Given the description of an element on the screen output the (x, y) to click on. 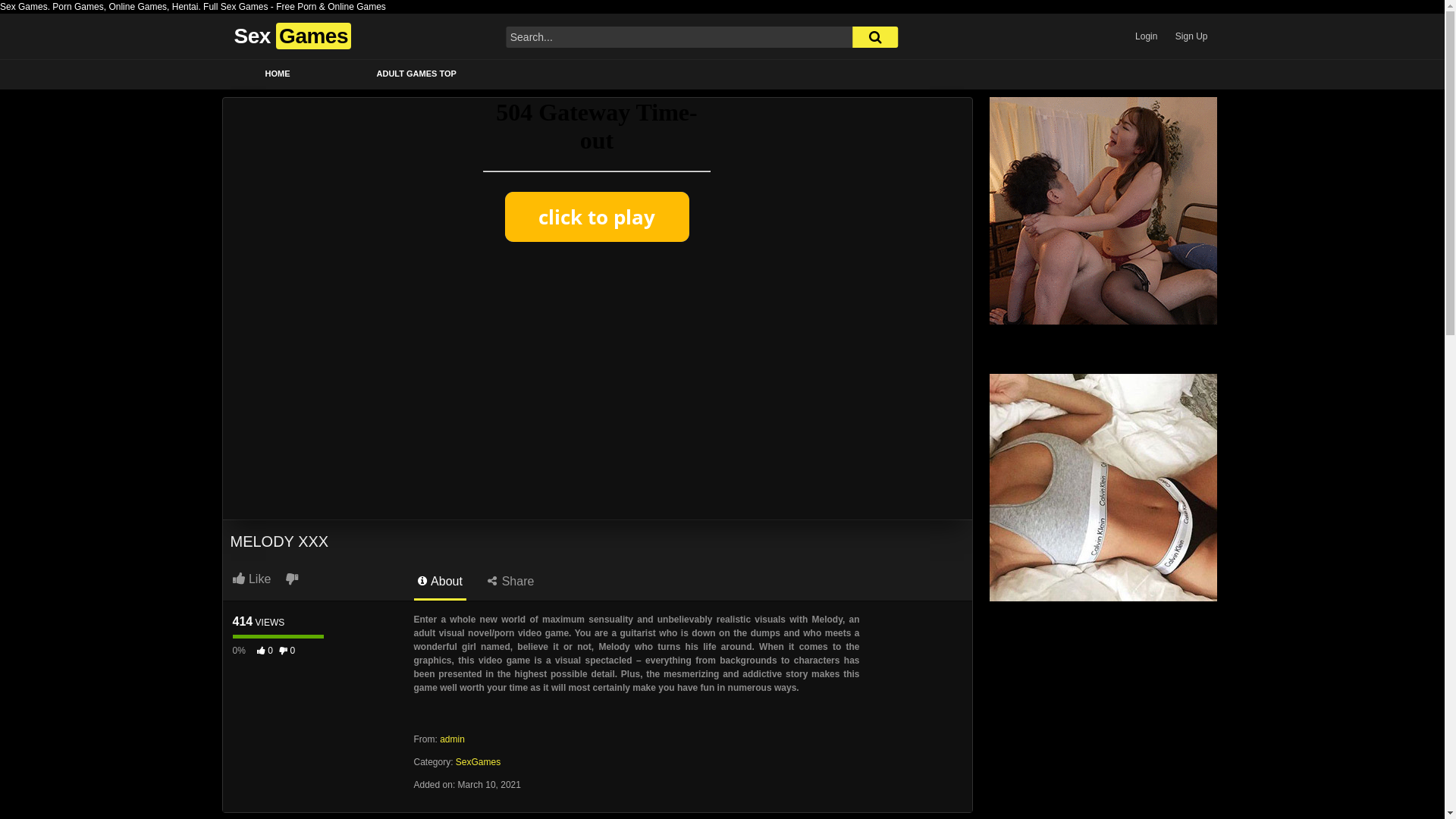
admin Element type: text (451, 739)
Sign Up Element type: text (1191, 36)
Login Element type: text (1146, 36)
Share Element type: text (510, 585)
About Element type: text (440, 585)
HOME Element type: text (276, 74)
SexGames Element type: text (477, 761)
I dislike this Element type: hover (291, 578)
ADULT GAMES TOP Element type: text (416, 74)
Like Element type: text (257, 578)
